Given the description of an element on the screen output the (x, y) to click on. 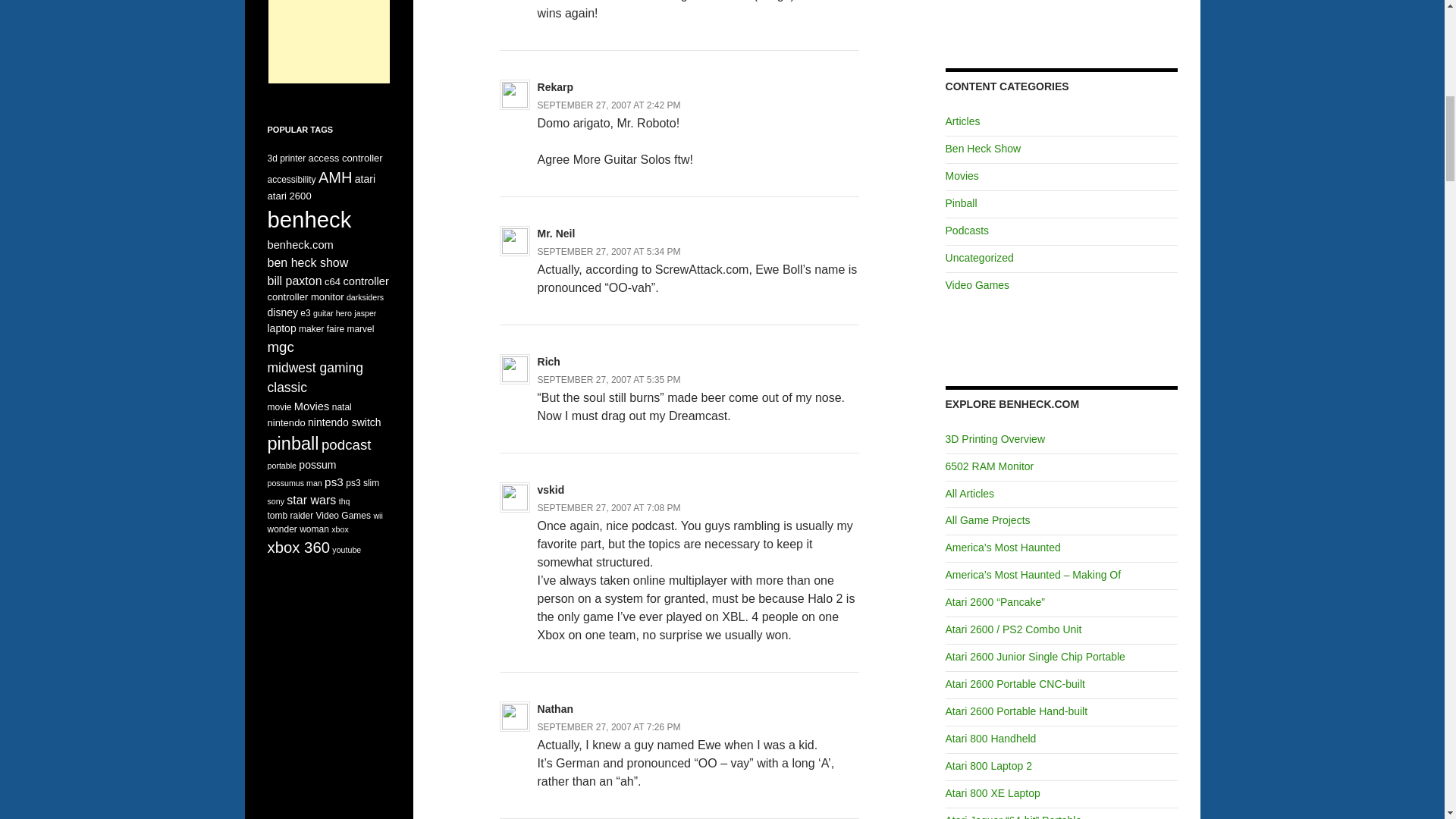
SEPTEMBER 27, 2007 AT 2:42 PM (609, 104)
SEPTEMBER 27, 2007 AT 5:34 PM (609, 251)
Mr. Neil (556, 233)
SEPTEMBER 27, 2007 AT 7:26 PM (609, 726)
Advertisement (328, 41)
Rekarp (555, 87)
SEPTEMBER 27, 2007 AT 7:08 PM (609, 507)
SEPTEMBER 27, 2007 AT 5:35 PM (609, 379)
